Given the description of an element on the screen output the (x, y) to click on. 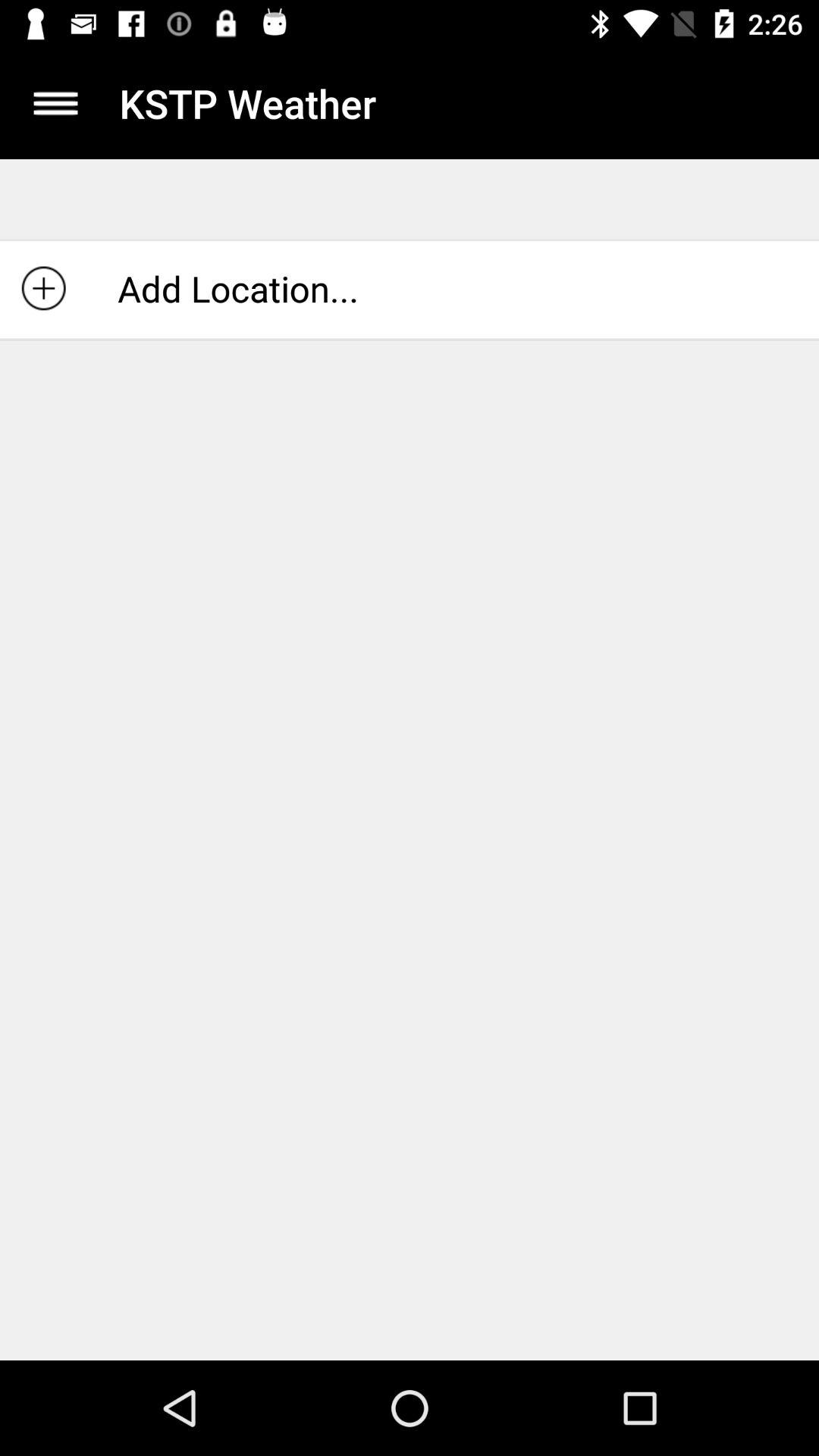
open icon above add location... item (55, 103)
